Given the description of an element on the screen output the (x, y) to click on. 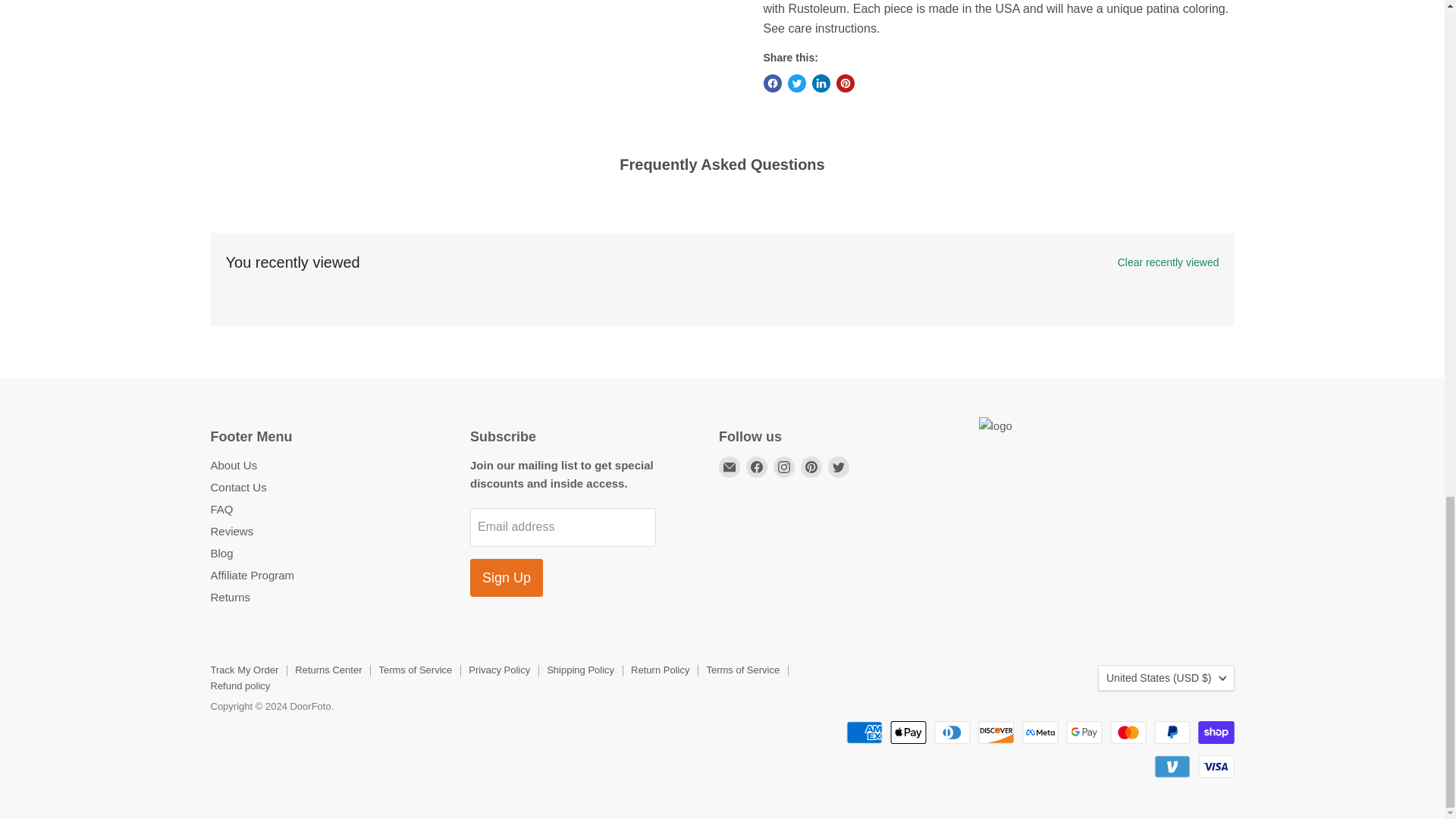
Instagram (783, 466)
American Express (863, 732)
Twitter (838, 466)
E-mail (729, 466)
Pinterest (811, 466)
Facebook (756, 466)
